Given the description of an element on the screen output the (x, y) to click on. 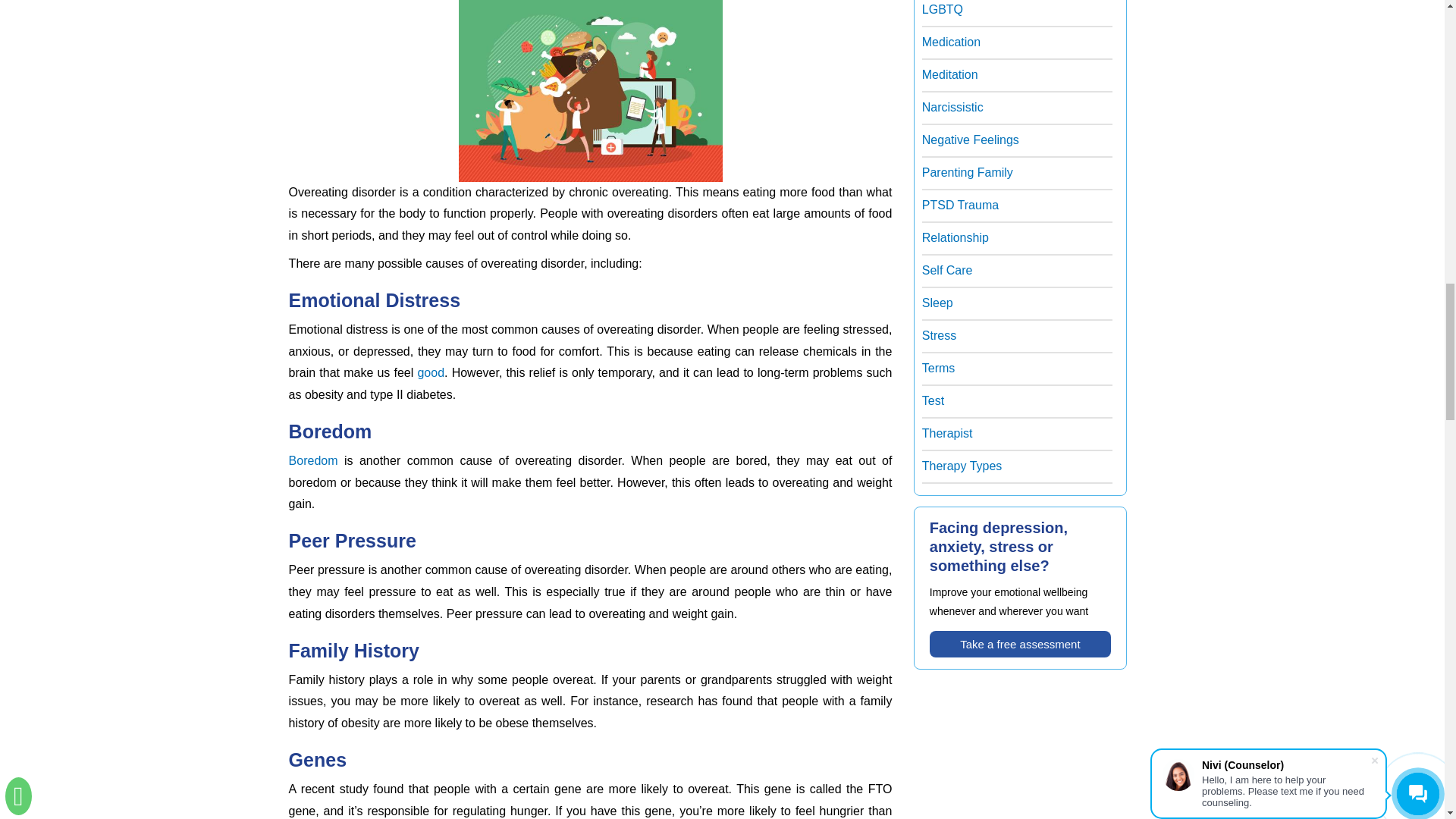
good (430, 372)
